Given the description of an element on the screen output the (x, y) to click on. 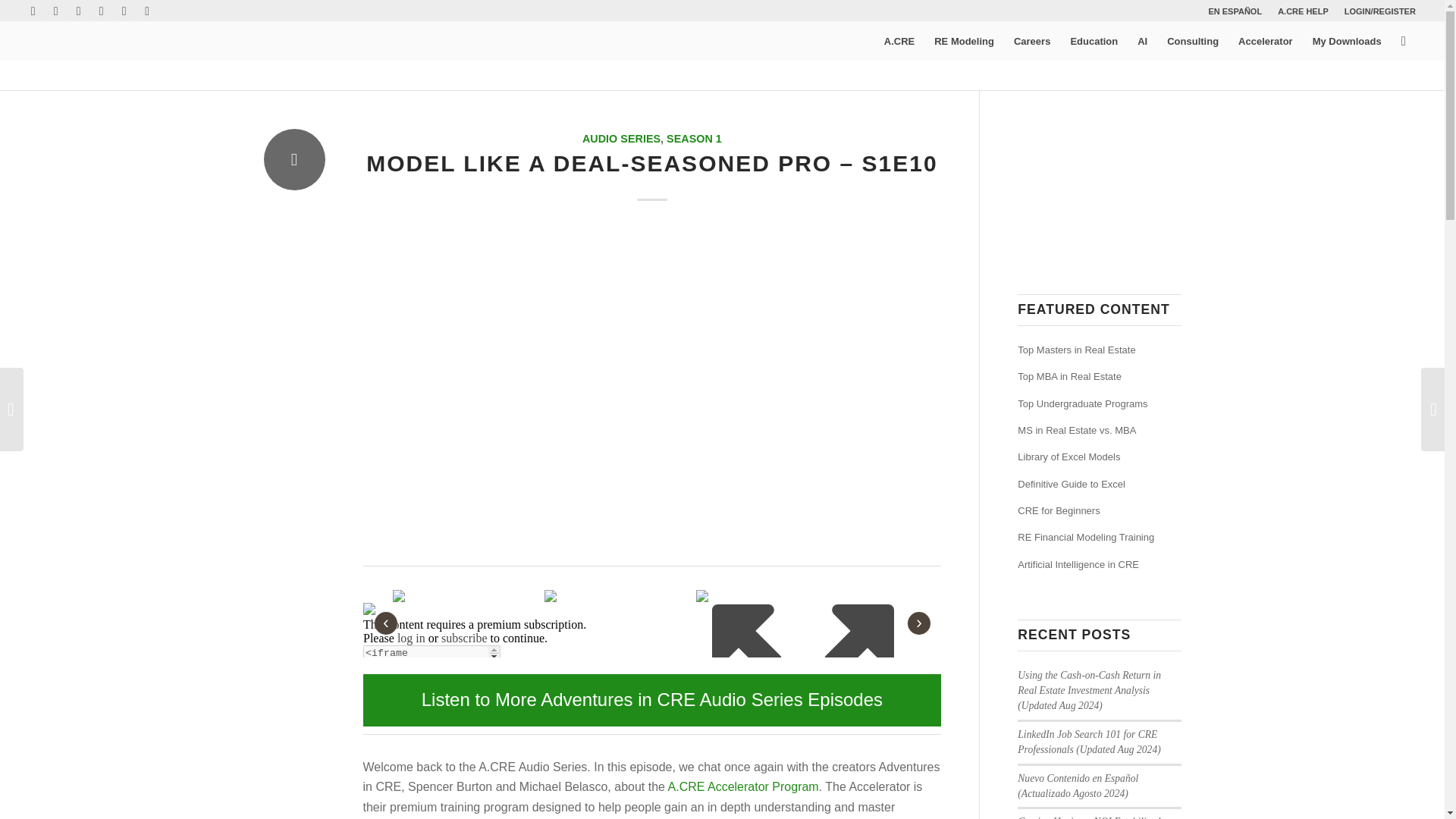
Youtube (55, 11)
Information and Advice on Real Estate Careers (1031, 41)
A.CRE (899, 41)
Tiktok (124, 11)
Facebook (32, 11)
LinkedIn (77, 11)
X (101, 11)
Real Estate Education (1092, 41)
RE Modeling (964, 41)
Real Estate Financial Modeling (964, 41)
A.CRE HELP (1302, 11)
Adventures in CRE (896, 75)
Instagram (146, 11)
